Given the description of an element on the screen output the (x, y) to click on. 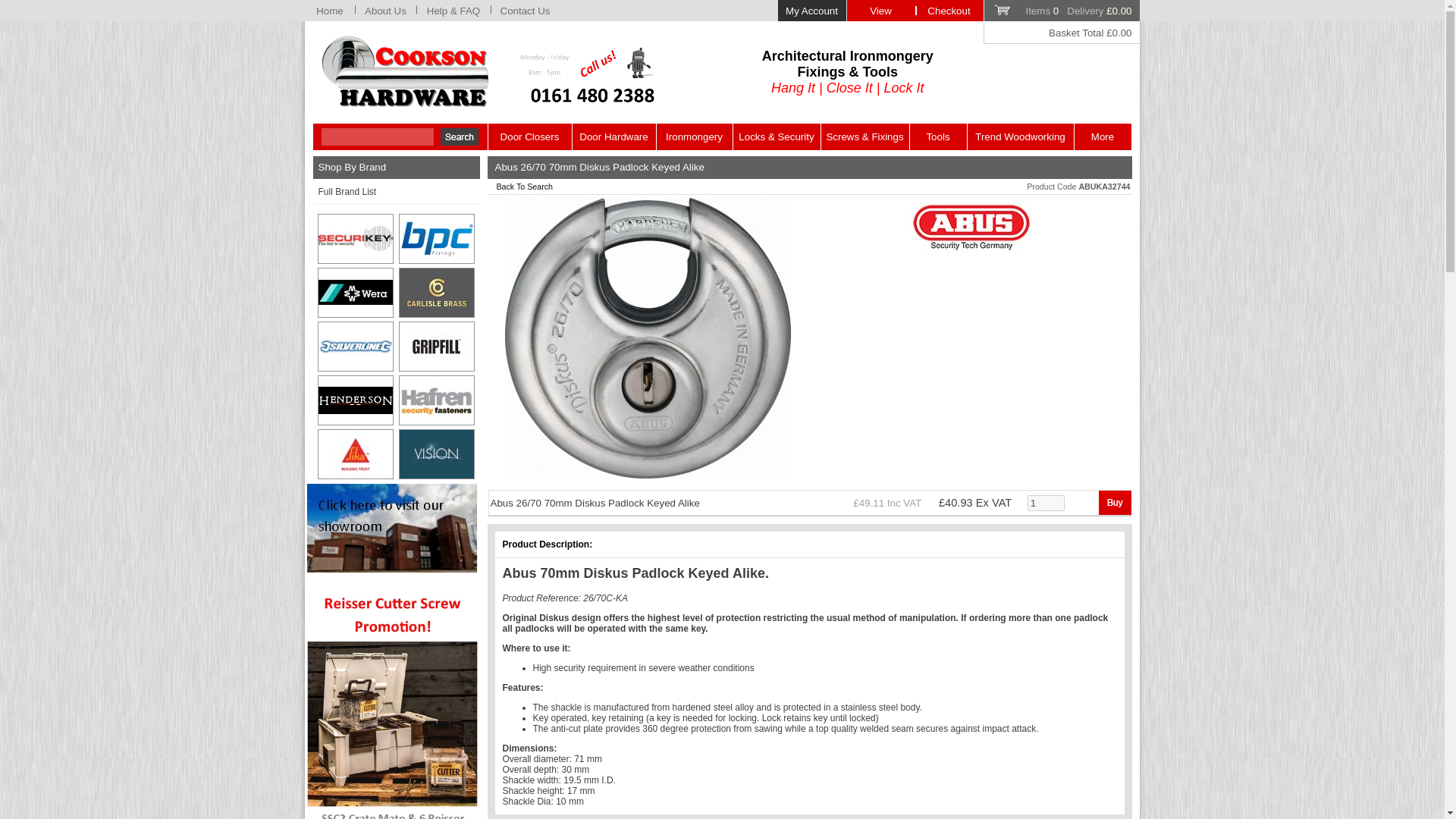
1 (1045, 502)
Gripfill Adhesives (436, 346)
More (1102, 136)
Trend Woodworking (1021, 136)
Full Brand List (396, 192)
Checkout (948, 10)
Tools (938, 136)
View (879, 10)
Door Hardware (613, 136)
